Given the description of an element on the screen output the (x, y) to click on. 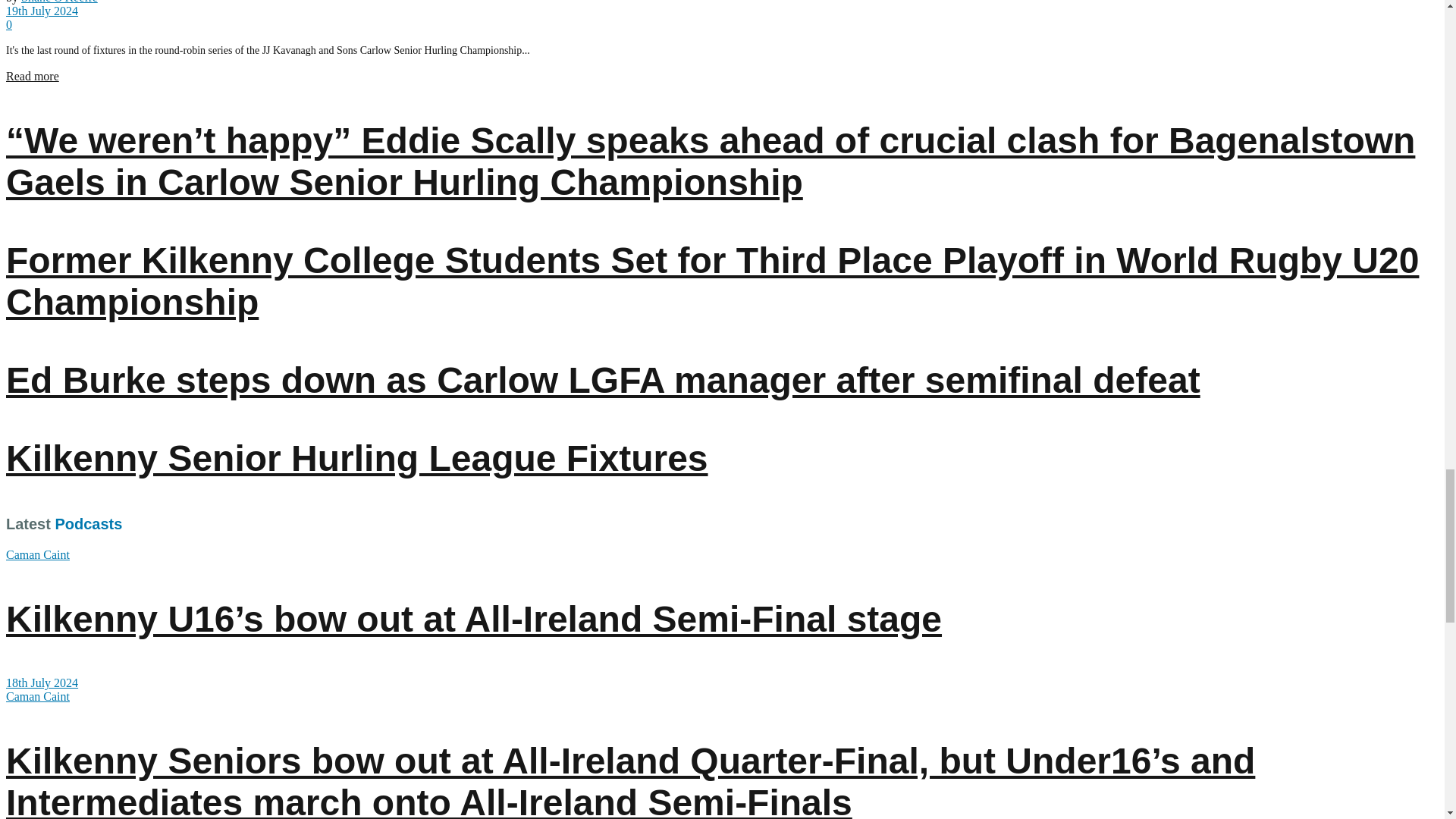
18th July 2024 (41, 682)
Shane O'Keeffe (59, 2)
Read more (32, 75)
Caman Caint (37, 554)
19th July 2024 (41, 10)
Kilkenny Senior Hurling League Fixtures (356, 458)
